Given the description of an element on the screen output the (x, y) to click on. 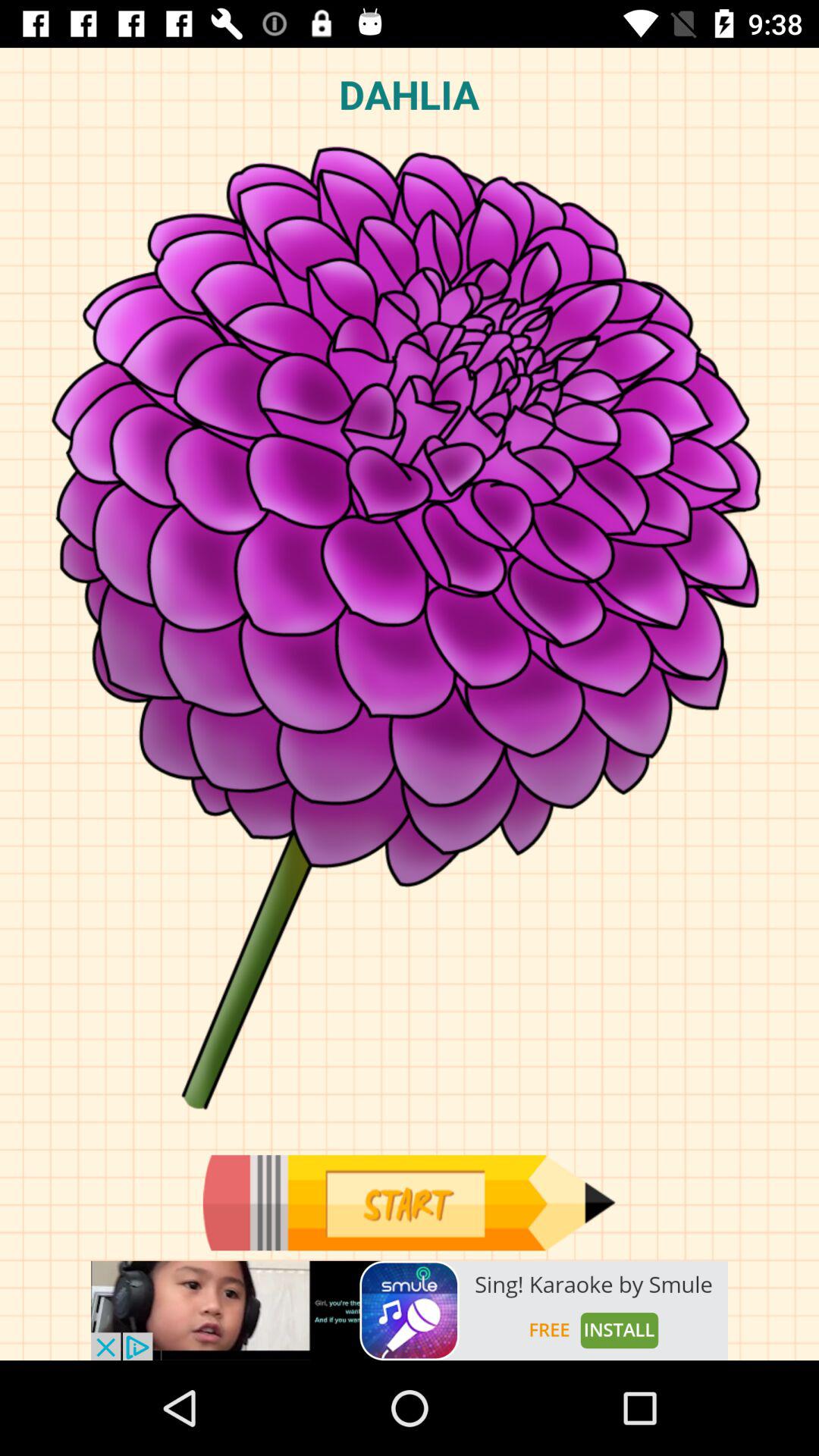
start the picture (409, 1202)
